Given the description of an element on the screen output the (x, y) to click on. 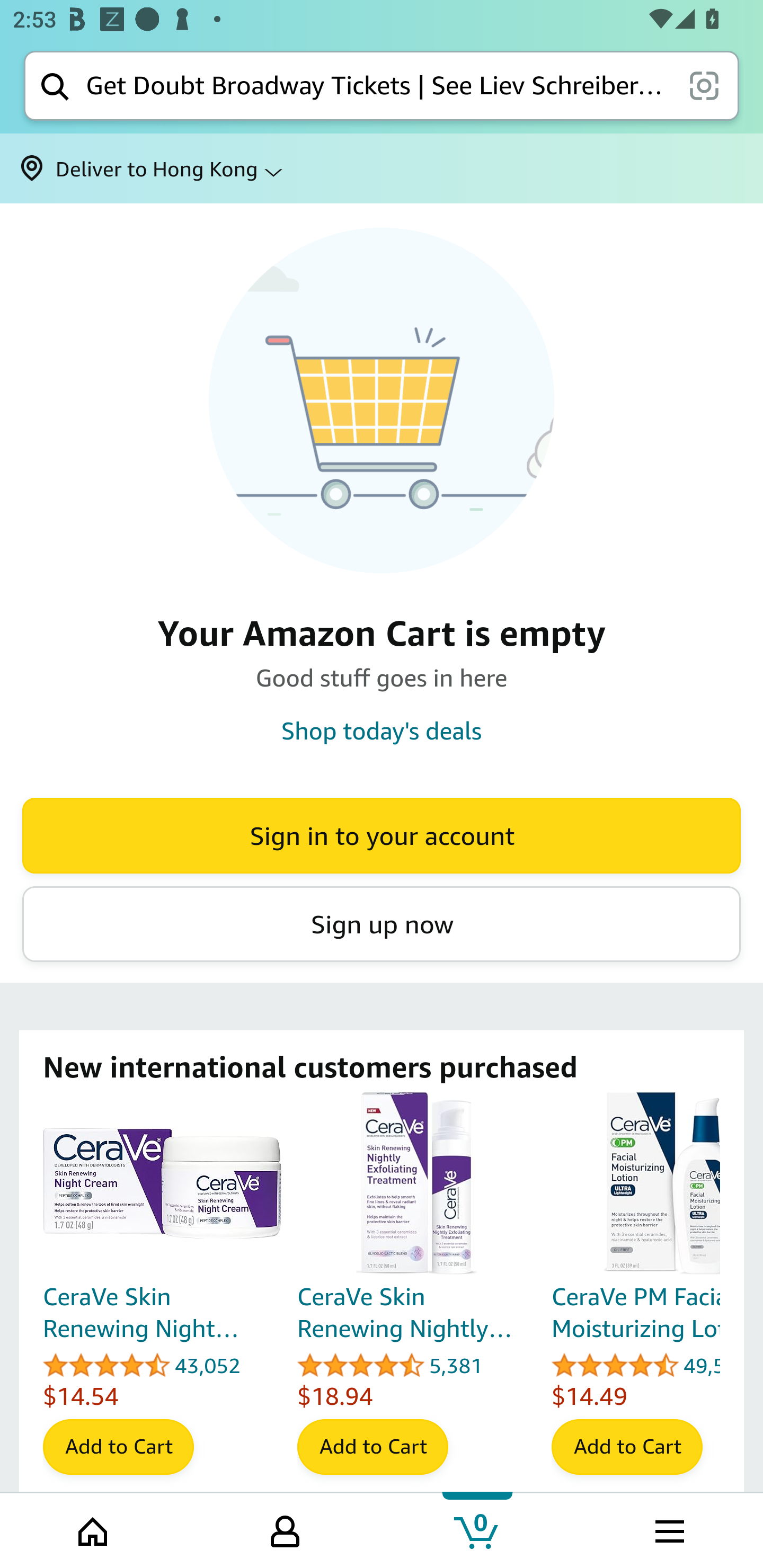
scan it (704, 85)
Deliver to Hong Kong ⌵ (381, 168)
Shop today's deals (381, 729)
Sign in to your account (381, 835)
Sign up now (381, 924)
Add to Cart (118, 1447)
Add to Cart (372, 1447)
Add to Cart (627, 1447)
Home Tab 1 of 4 (94, 1529)
Your Amazon.com Tab 2 of 4 (285, 1529)
Cart 0 item Tab 3 of 4 0 (477, 1529)
Browse menu Tab 4 of 4 (668, 1529)
